Given the description of an element on the screen output the (x, y) to click on. 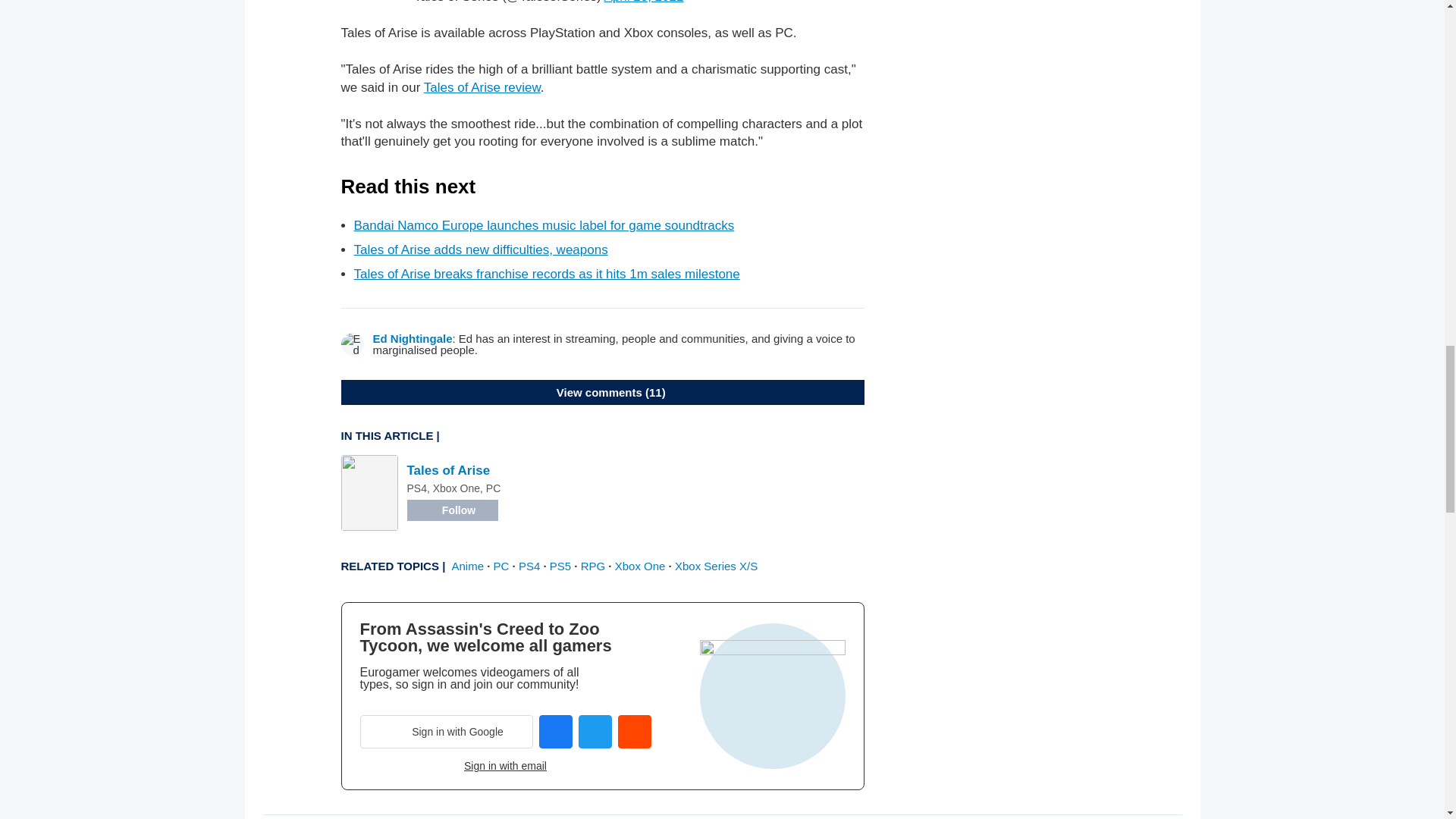
Tales of Arise review (481, 87)
April 28, 2022 (644, 2)
Tales of Arise adds new difficulties, weapons (480, 249)
